Given the description of an element on the screen output the (x, y) to click on. 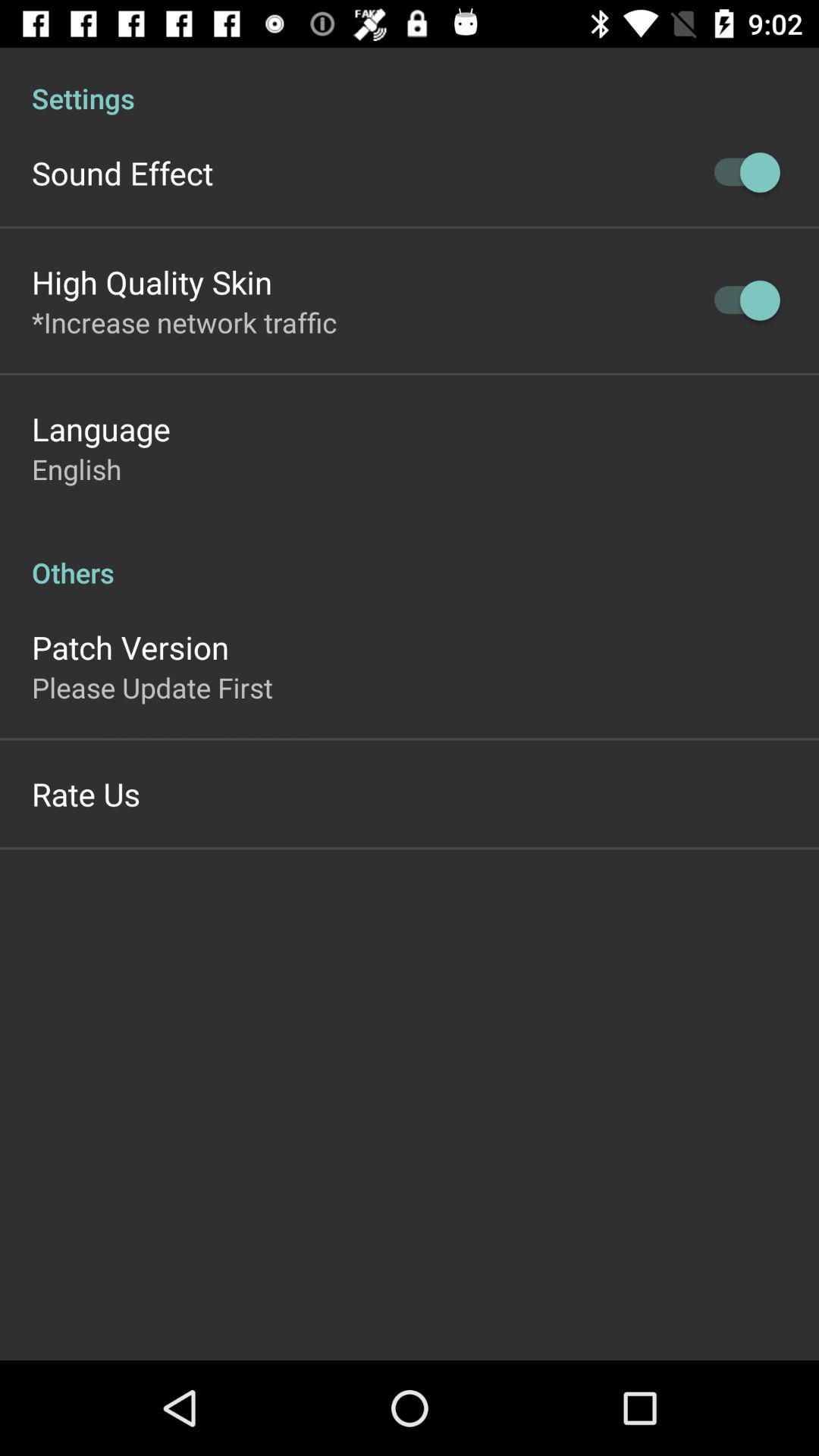
turn on item above *increase network traffic icon (151, 281)
